Given the description of an element on the screen output the (x, y) to click on. 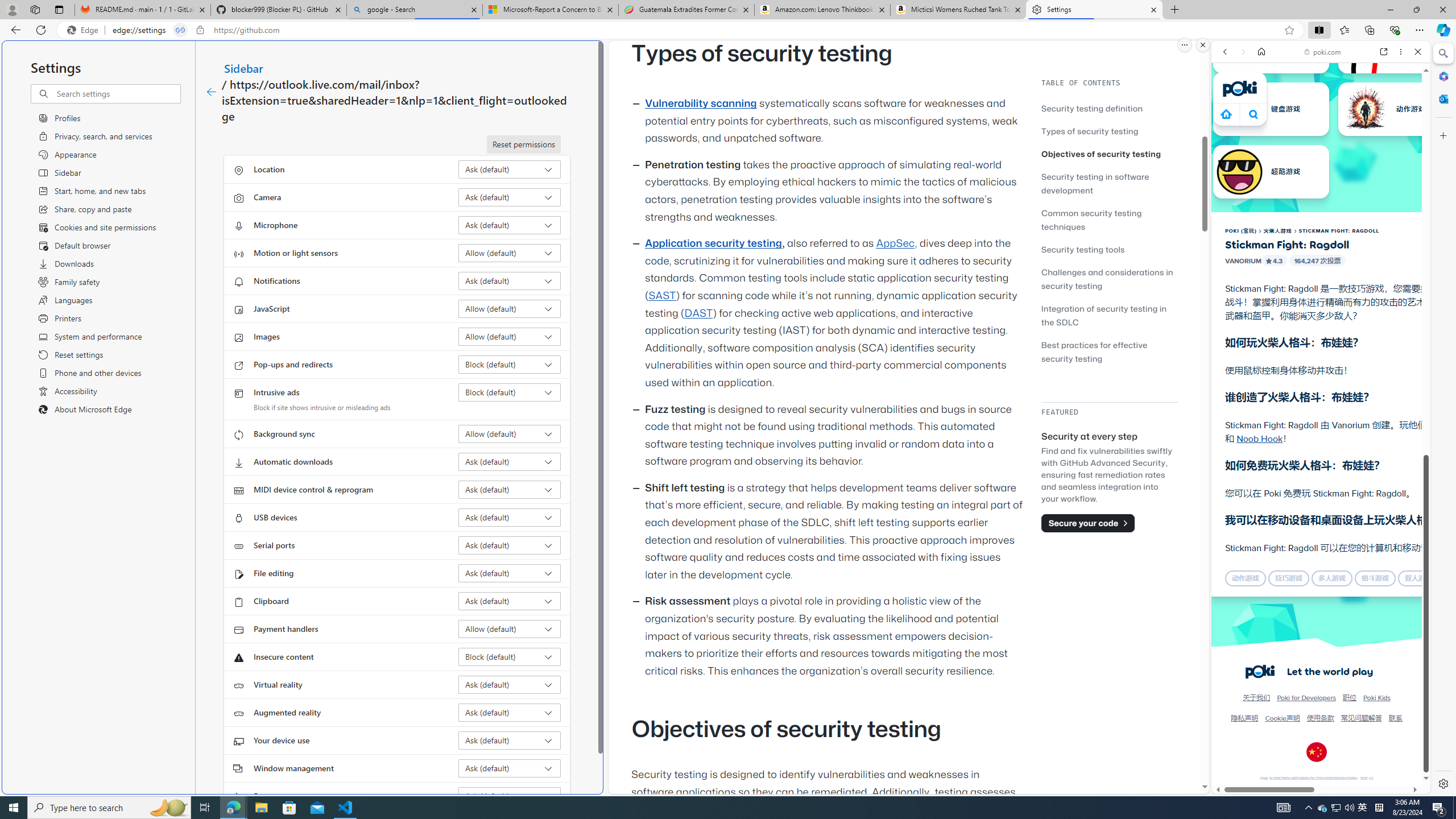
Best practices for effective security testing (1094, 351)
poki.com (1322, 51)
Two Player Games (1320, 323)
Security testing definition (1109, 108)
Insecure content Block (default) (509, 656)
Close split screen. (1202, 45)
Combat Reloaded (1349, 523)
MIDI device control & reprogram Ask (default) (509, 489)
